Given the description of an element on the screen output the (x, y) to click on. 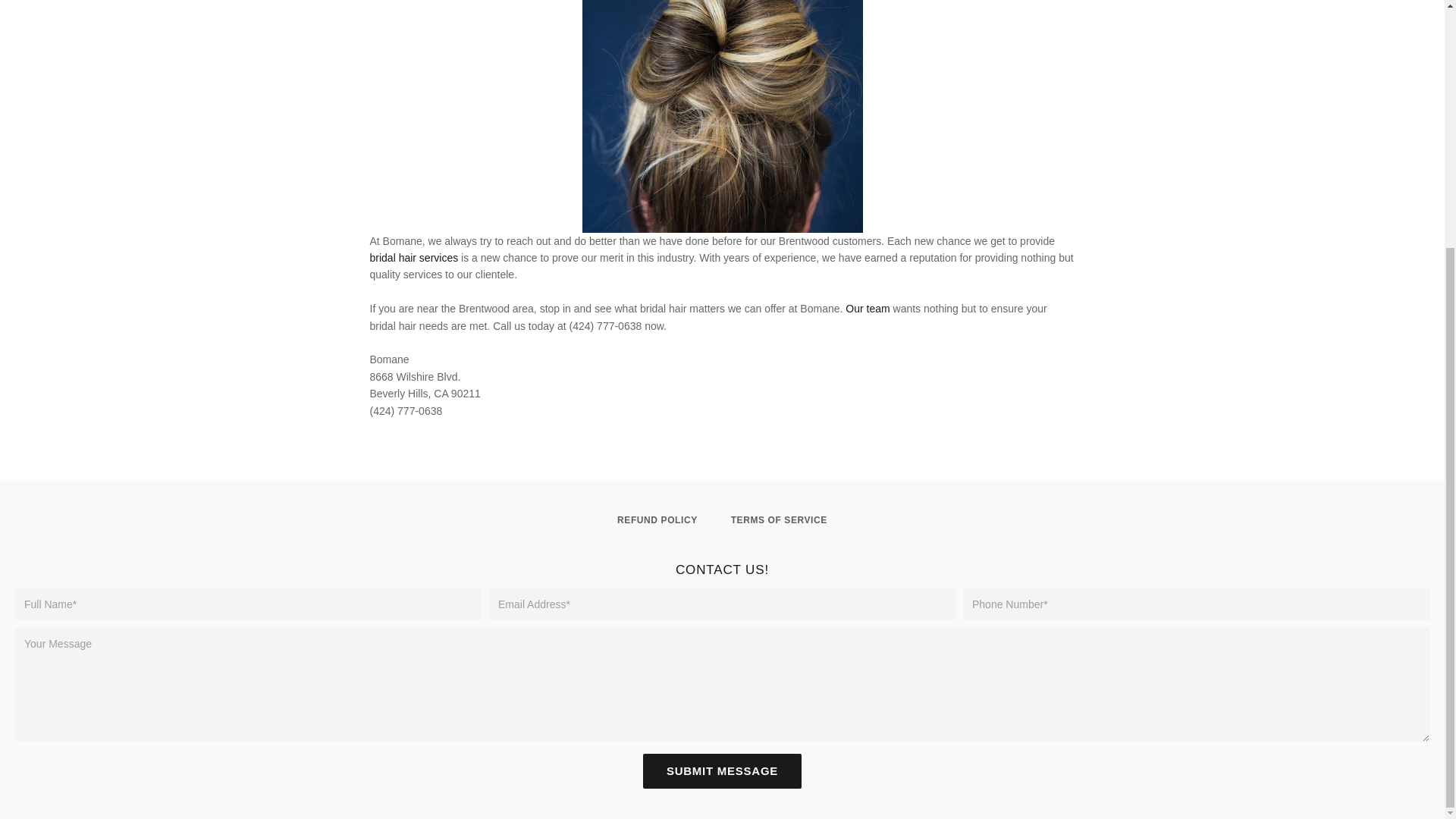
SUBMIT MESSAGE (722, 770)
TERMS OF SERVICE (779, 520)
Submit (722, 770)
REFUND POLICY (657, 520)
Our team (867, 308)
bridal hair services (413, 257)
